Given the description of an element on the screen output the (x, y) to click on. 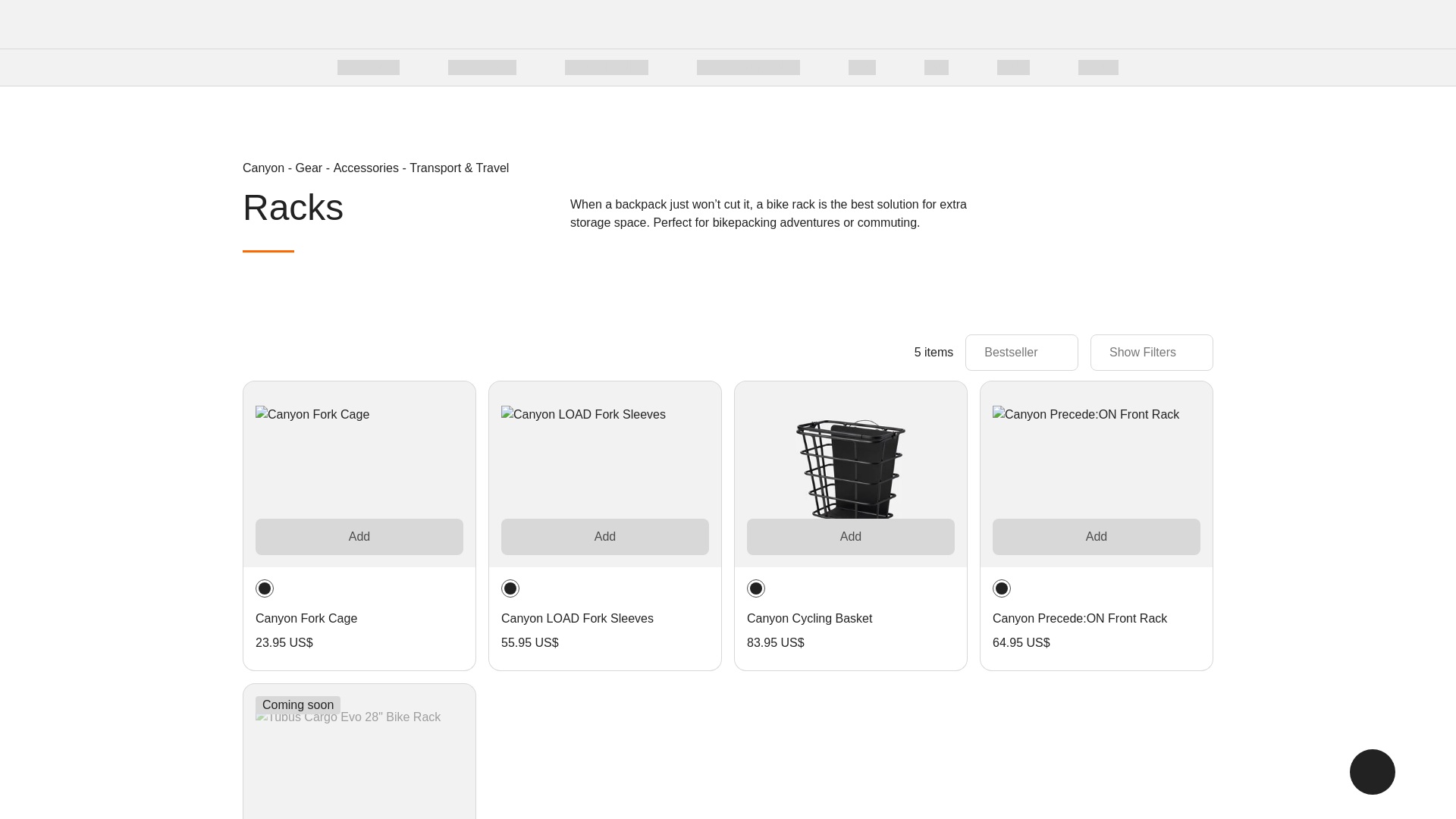
Canyon LOAD Fork Sleeves (604, 474)
Canyon LOAD Fork Sleeves (576, 618)
Reasons to Choose Canyon (714, 67)
Black (755, 588)
Canyon (297, 23)
Canyon Cycling Basket (809, 618)
Canyon Cycling Basket (850, 474)
Black (264, 588)
Black (509, 588)
Gravel Bikes (482, 67)
Canyon Precede:ON Front Rack (1095, 474)
Road Bikes (367, 67)
Canyon Fork Cage (359, 474)
Canyon Fork Cage (306, 618)
